Given the description of an element on the screen output the (x, y) to click on. 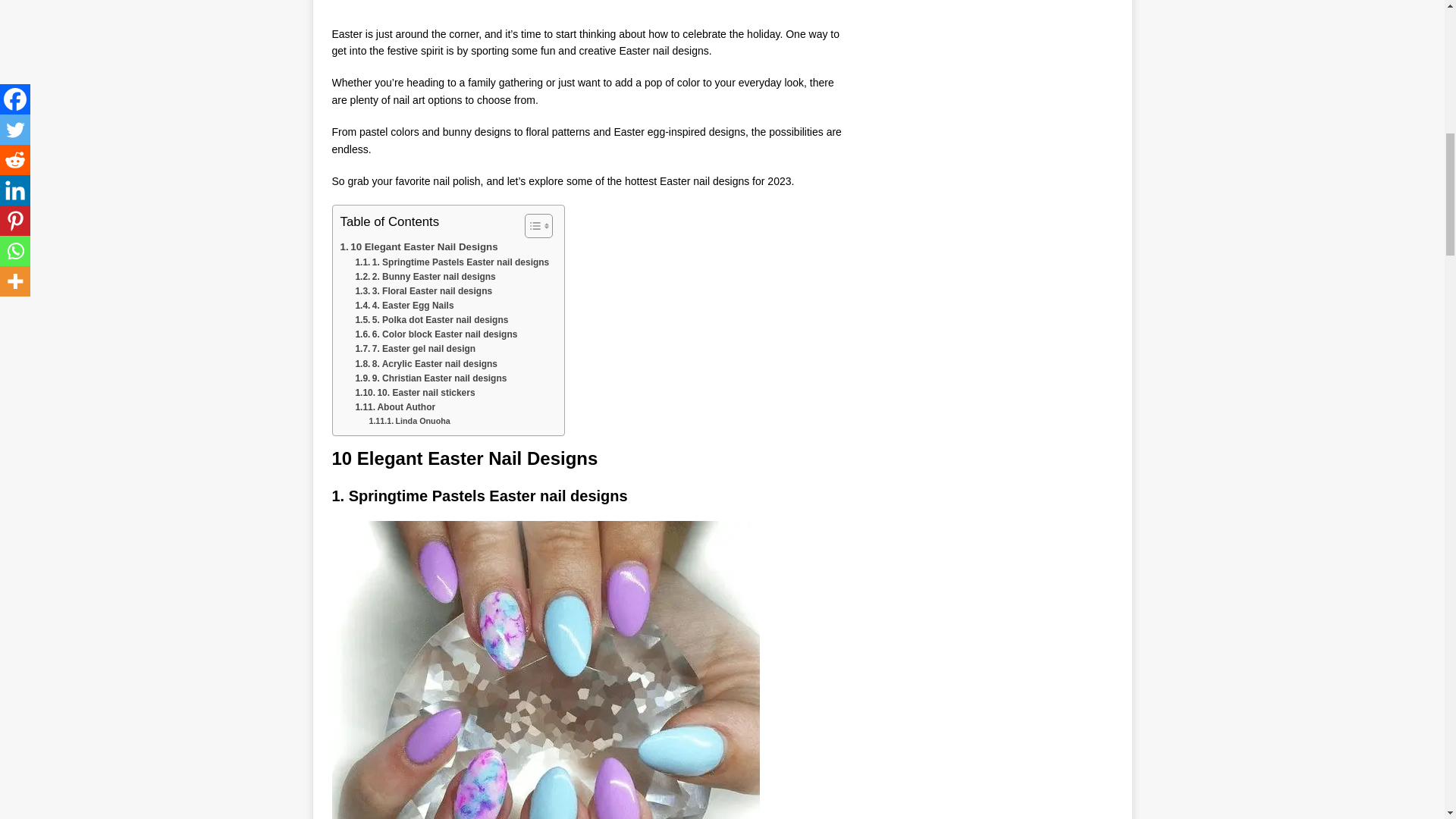
6. Color block Easter nail designs (435, 334)
4. Easter Egg Nails (403, 305)
2. Bunny Easter nail designs (425, 277)
2. Bunny Easter nail designs (425, 277)
Linda Onuoha (408, 420)
4. Easter Egg Nails (403, 305)
1. Springtime Pastels Easter nail designs (451, 262)
10. Easter nail stickers (414, 392)
5. Polka dot Easter nail designs (431, 319)
7. Easter gel nail design (415, 349)
9. Christian Easter nail designs (430, 378)
3. Floral Easter nail designs (423, 291)
10 Elegant Easter Nail Designs (418, 246)
5. Polka dot Easter nail designs (431, 319)
6. Color block Easter nail designs (435, 334)
